Given the description of an element on the screen output the (x, y) to click on. 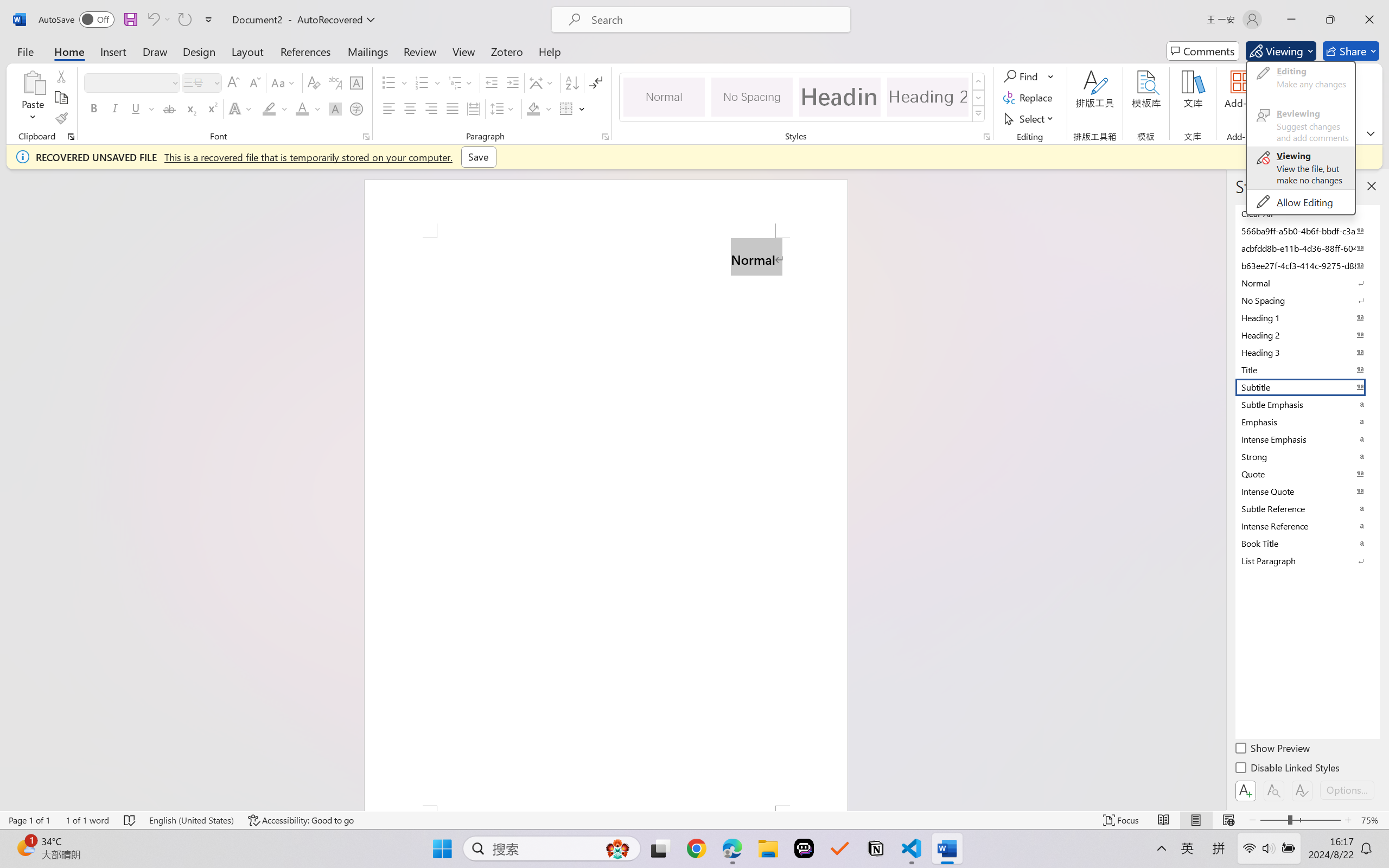
Intense Quote (1306, 490)
Heading 2 (927, 96)
Text Highlight Color Yellow (269, 108)
Increase Indent (512, 82)
Disable Linked Styles (1287, 769)
Intense Emphasis (1306, 438)
Multilevel List (461, 82)
Font... (365, 136)
Phonetic Guide... (334, 82)
